Given the description of an element on the screen output the (x, y) to click on. 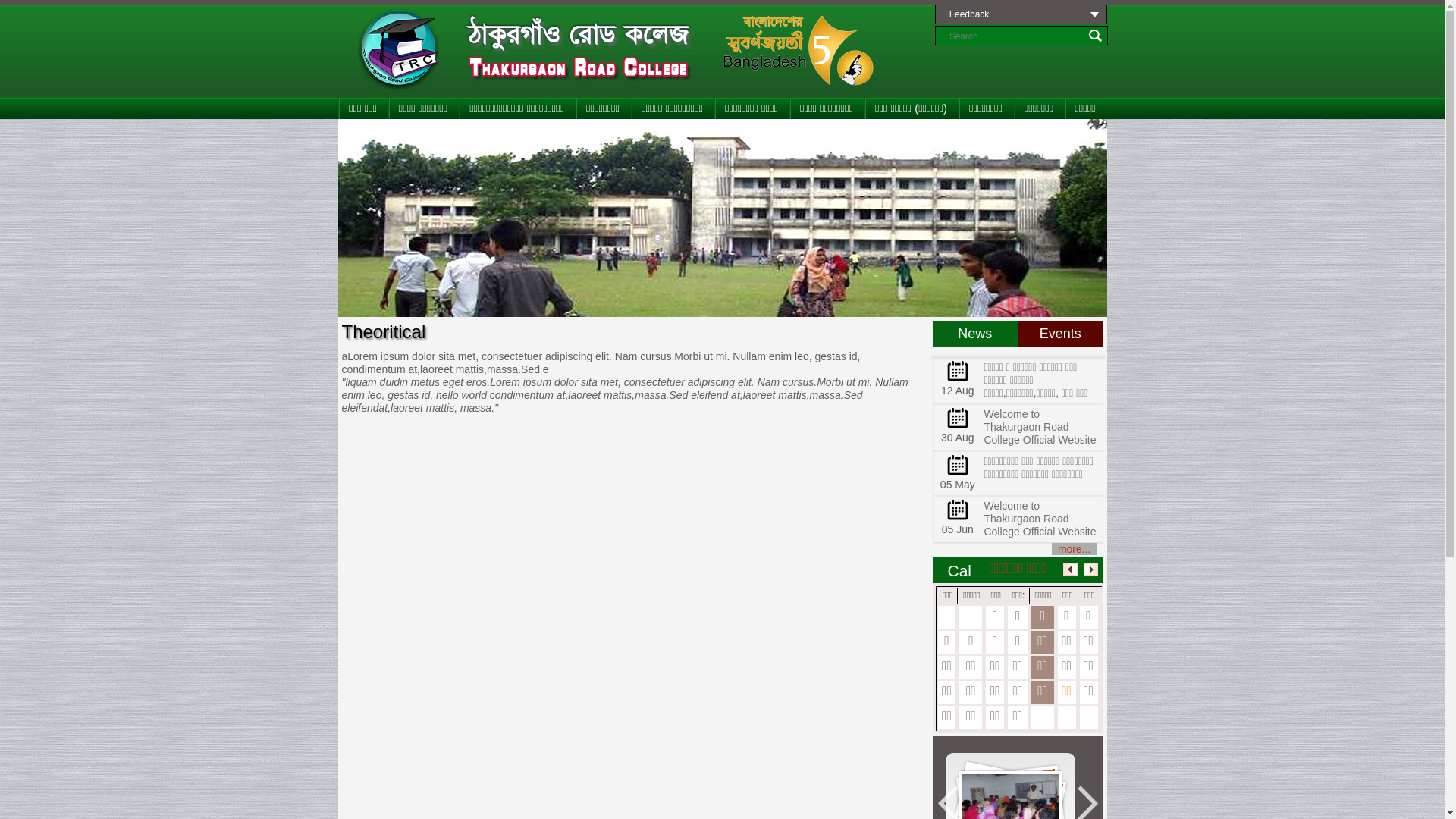
Feedback Element type: text (1020, 14)
News Element type: text (975, 333)
Welcome to Thakurgaon Road College Official Website Element type: text (1039, 426)
Events Element type: text (1060, 333)
more... Element type: text (1074, 548)
Welcome to Thakurgaon Road College Official Website Element type: text (1039, 518)
